Given the description of an element on the screen output the (x, y) to click on. 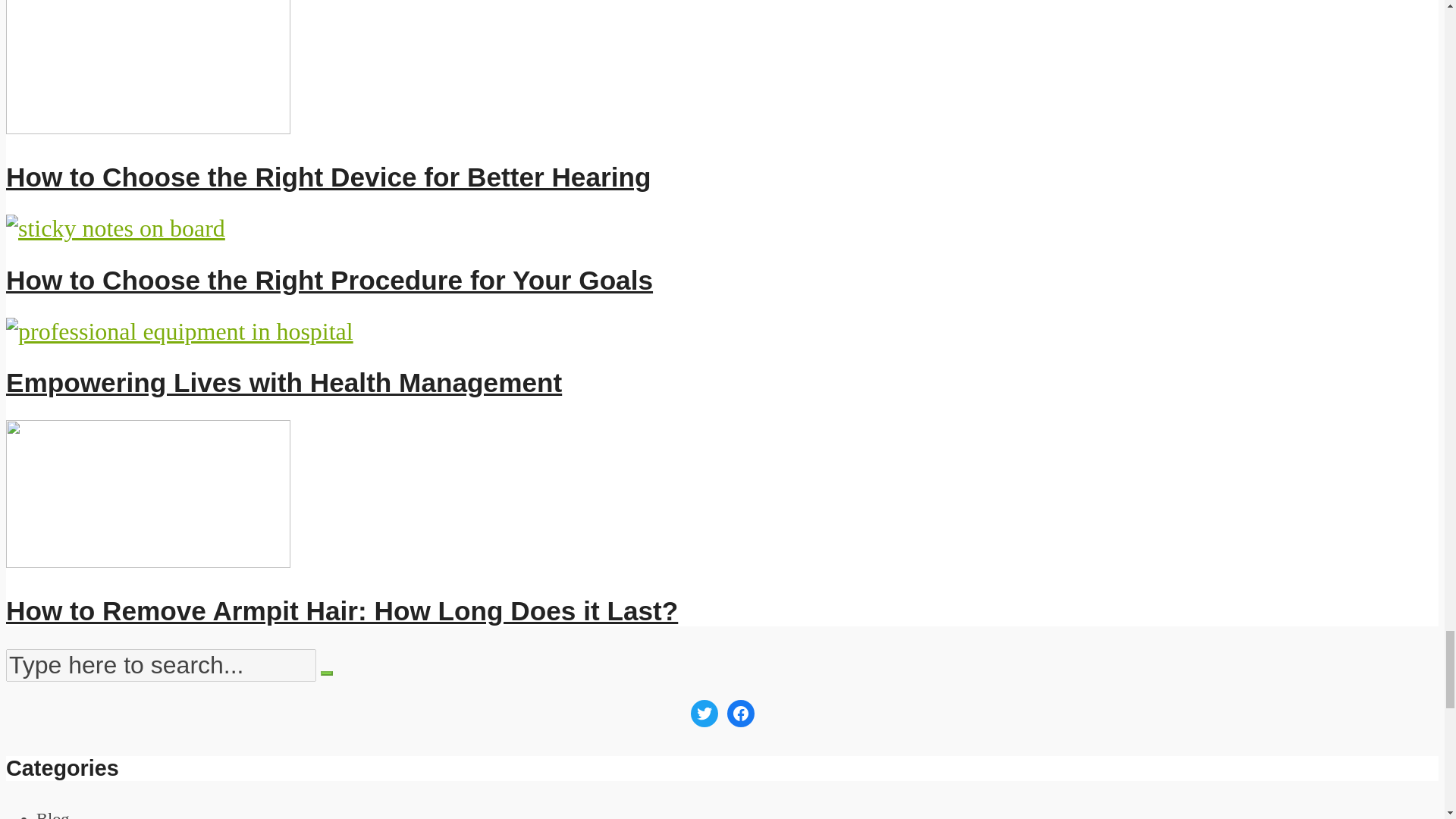
Empowering Lives with Health Management (283, 382)
How to Remove Armpit Hair: How Long Does it Last? (147, 559)
How to Choose the Right Procedure for Your Goals (328, 279)
Twitter (703, 713)
How to Choose the Right Device for Better Hearing (327, 176)
How to Choose the Right Device for Better Hearing (327, 176)
Type here to search... (160, 665)
How to Choose the Right Procedure for Your Goals (115, 227)
Type here to search... (160, 665)
How to Choose the Right Device for Better Hearing (147, 125)
